Given the description of an element on the screen output the (x, y) to click on. 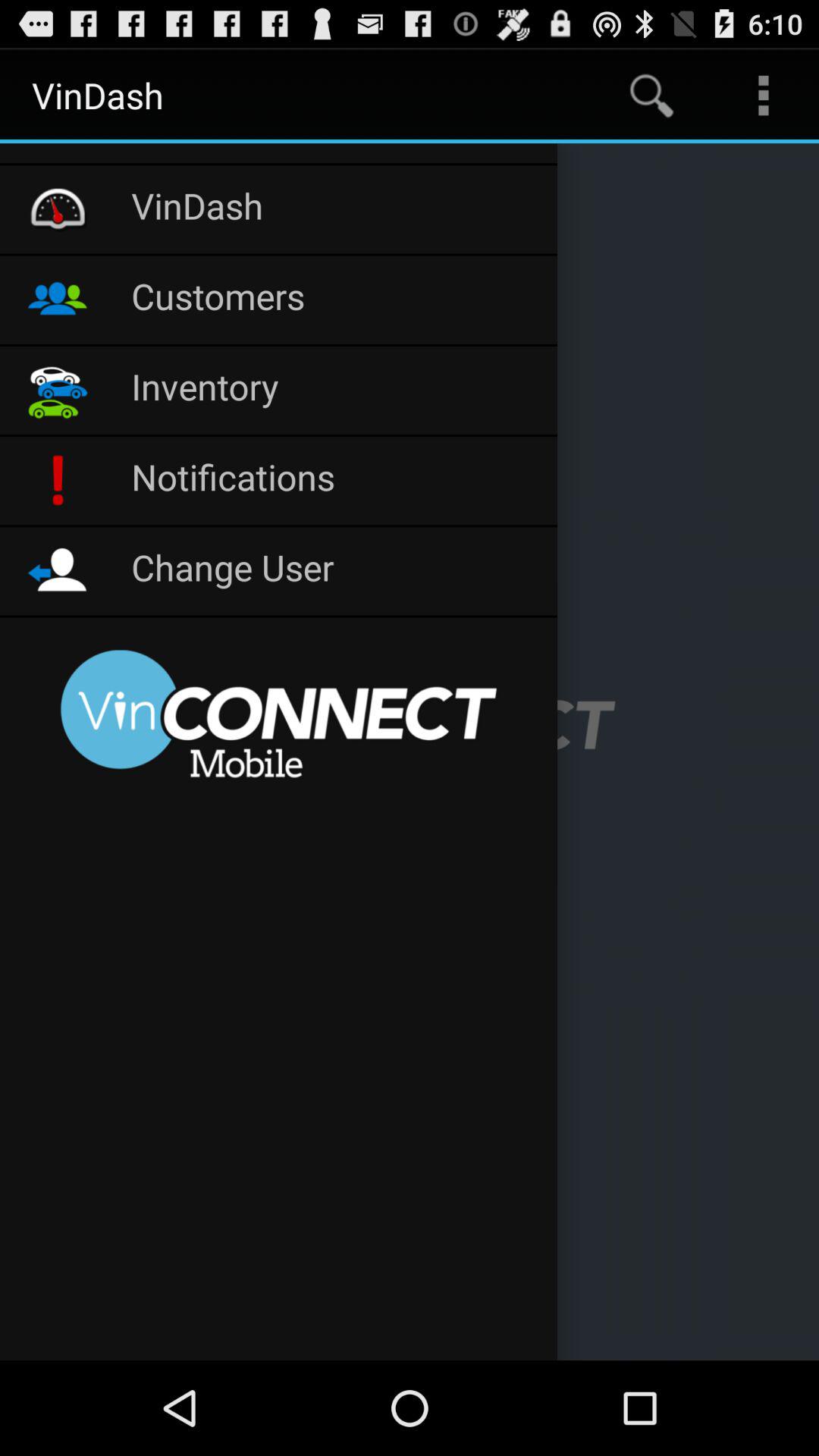
swipe to customers (336, 299)
